Given the description of an element on the screen output the (x, y) to click on. 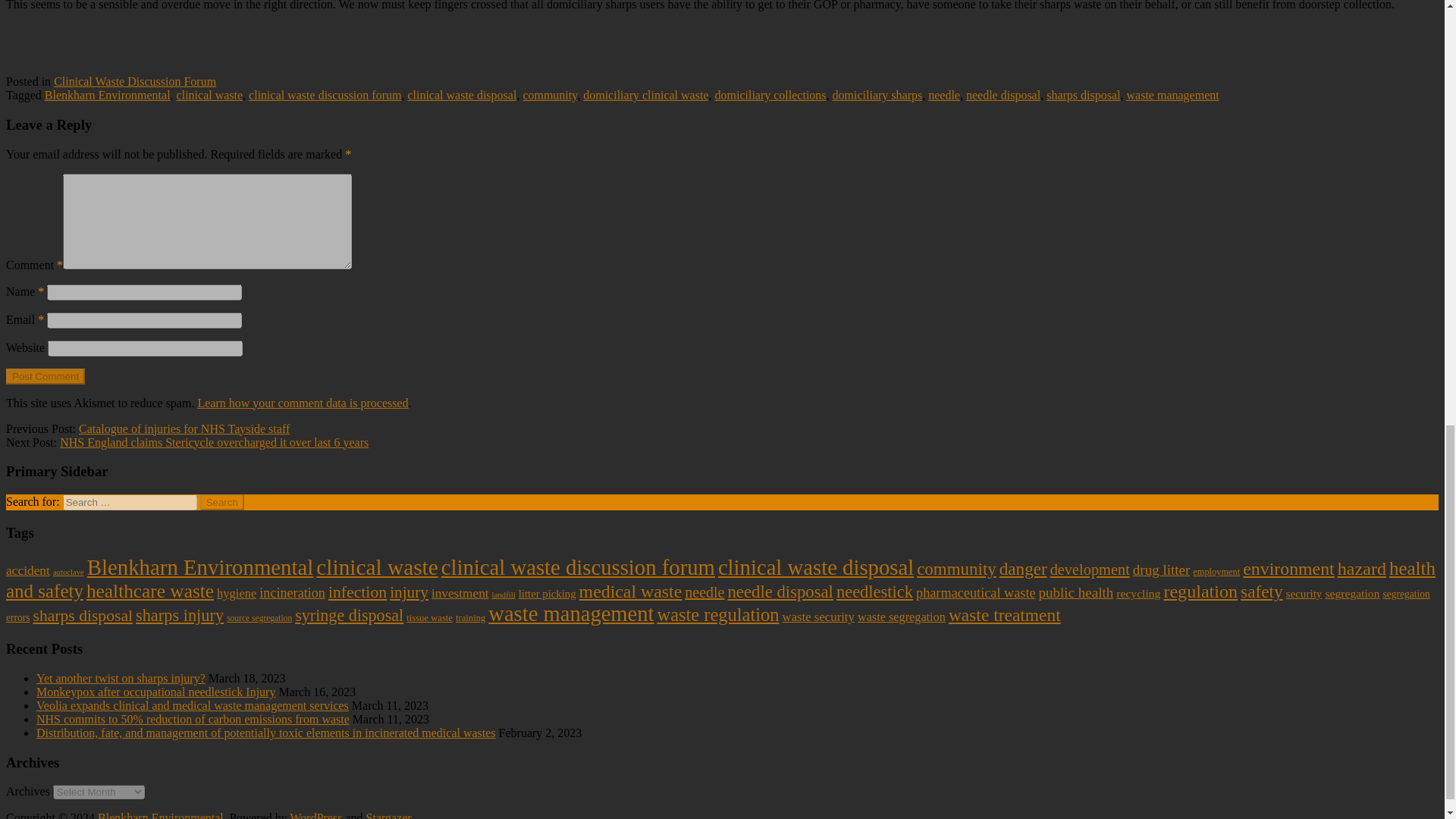
domiciliary sharps (877, 94)
Search (222, 502)
sharps disposal (1082, 94)
Post Comment (44, 376)
waste management (1173, 94)
Post Comment (44, 376)
Search (222, 502)
needle (943, 94)
needle disposal (1003, 94)
clinical waste discussion forum (324, 94)
